Given the description of an element on the screen output the (x, y) to click on. 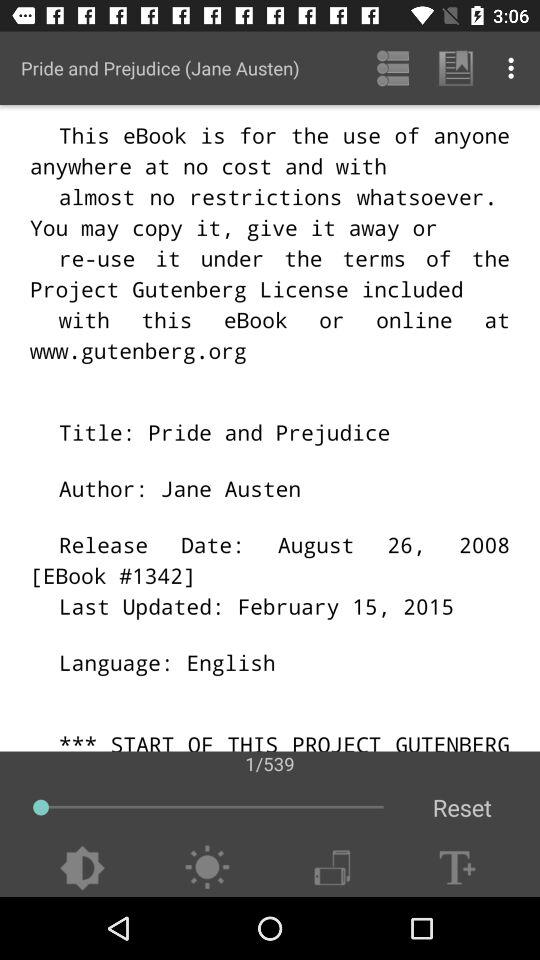
click the icon above the 1/539 app (160, 67)
